Given the description of an element on the screen output the (x, y) to click on. 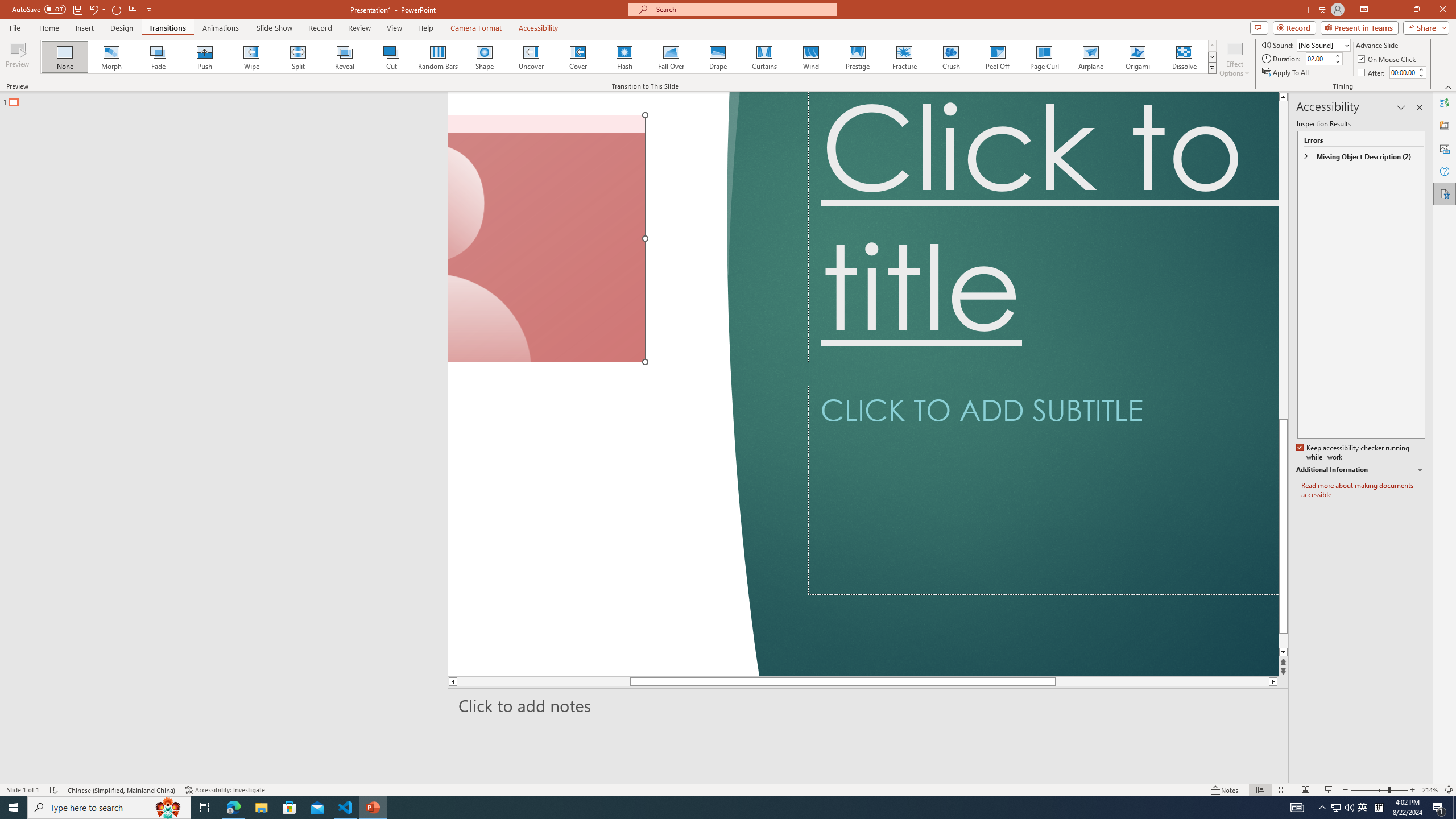
Page down (1052, 681)
Cut (391, 56)
Preview (17, 58)
Peel Off (997, 56)
Alt Text (1444, 147)
Fracture (903, 56)
